Given the description of an element on the screen output the (x, y) to click on. 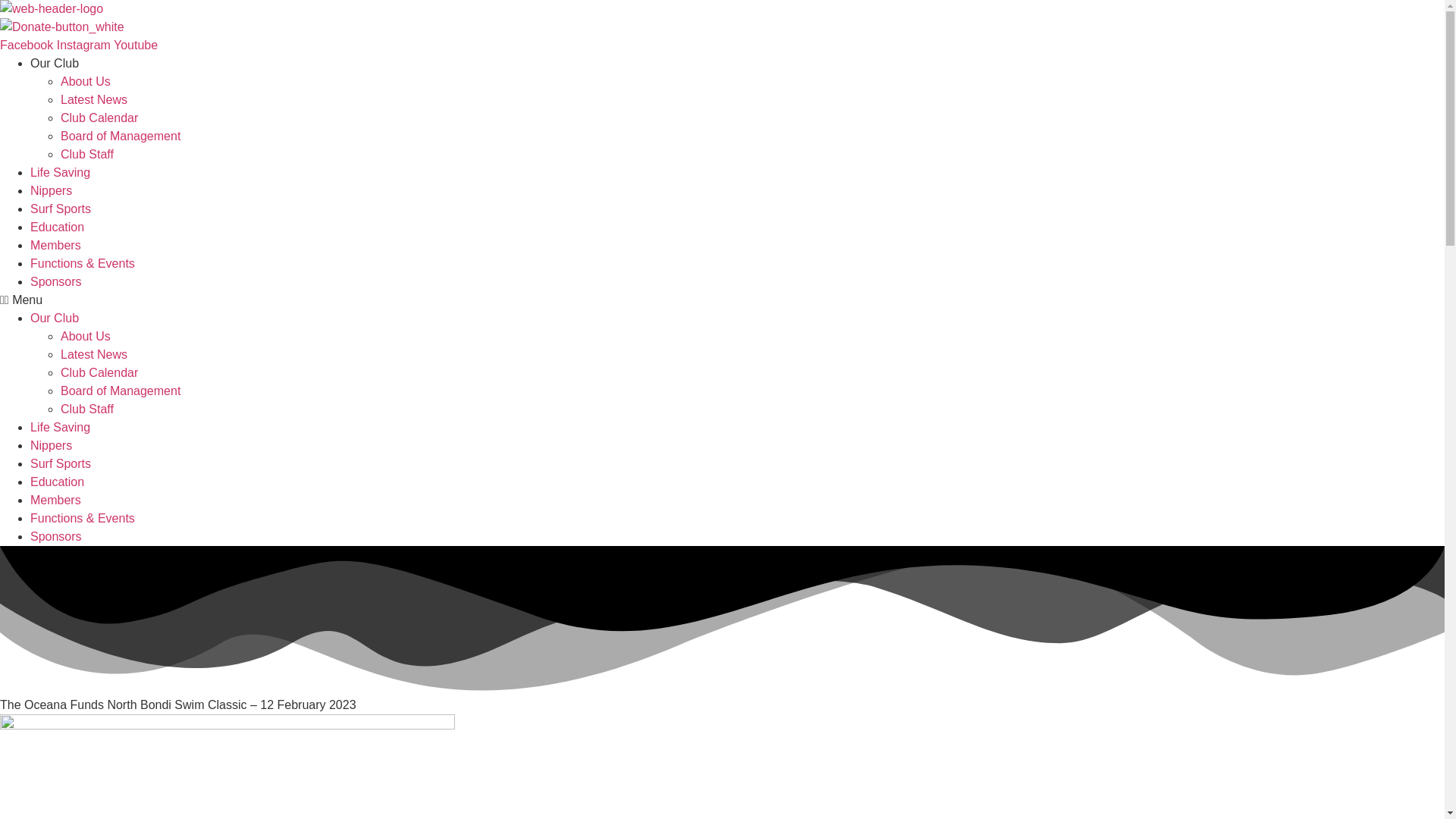
Members (55, 245)
Latest News (94, 354)
About Us (85, 336)
Our Club (54, 62)
Nippers (50, 190)
Youtube (135, 44)
Instagram (84, 44)
Life Saving (60, 427)
Club Staff (87, 154)
Life Saving (60, 172)
